Given the description of an element on the screen output the (x, y) to click on. 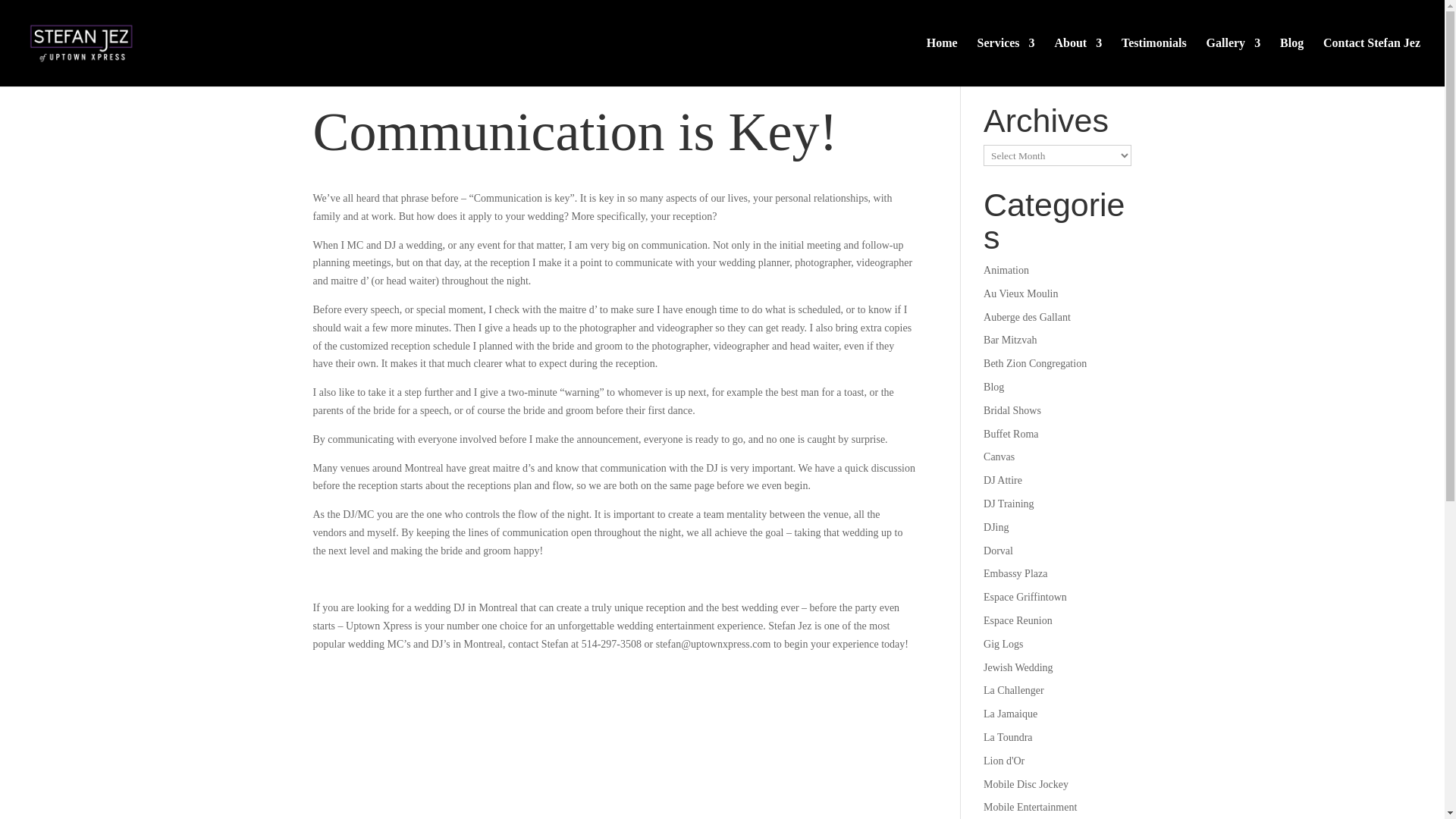
Gallery (1233, 61)
Beth Zion Congregation (1035, 363)
Bar Mitzvah (1010, 339)
Bridal Shows (1012, 410)
Canvas (999, 456)
Auberge des Gallant (1027, 317)
Contact Stefan Jez (1372, 61)
Animation (1006, 270)
Blog (994, 387)
Buffet Roma (1011, 433)
